Given the description of an element on the screen output the (x, y) to click on. 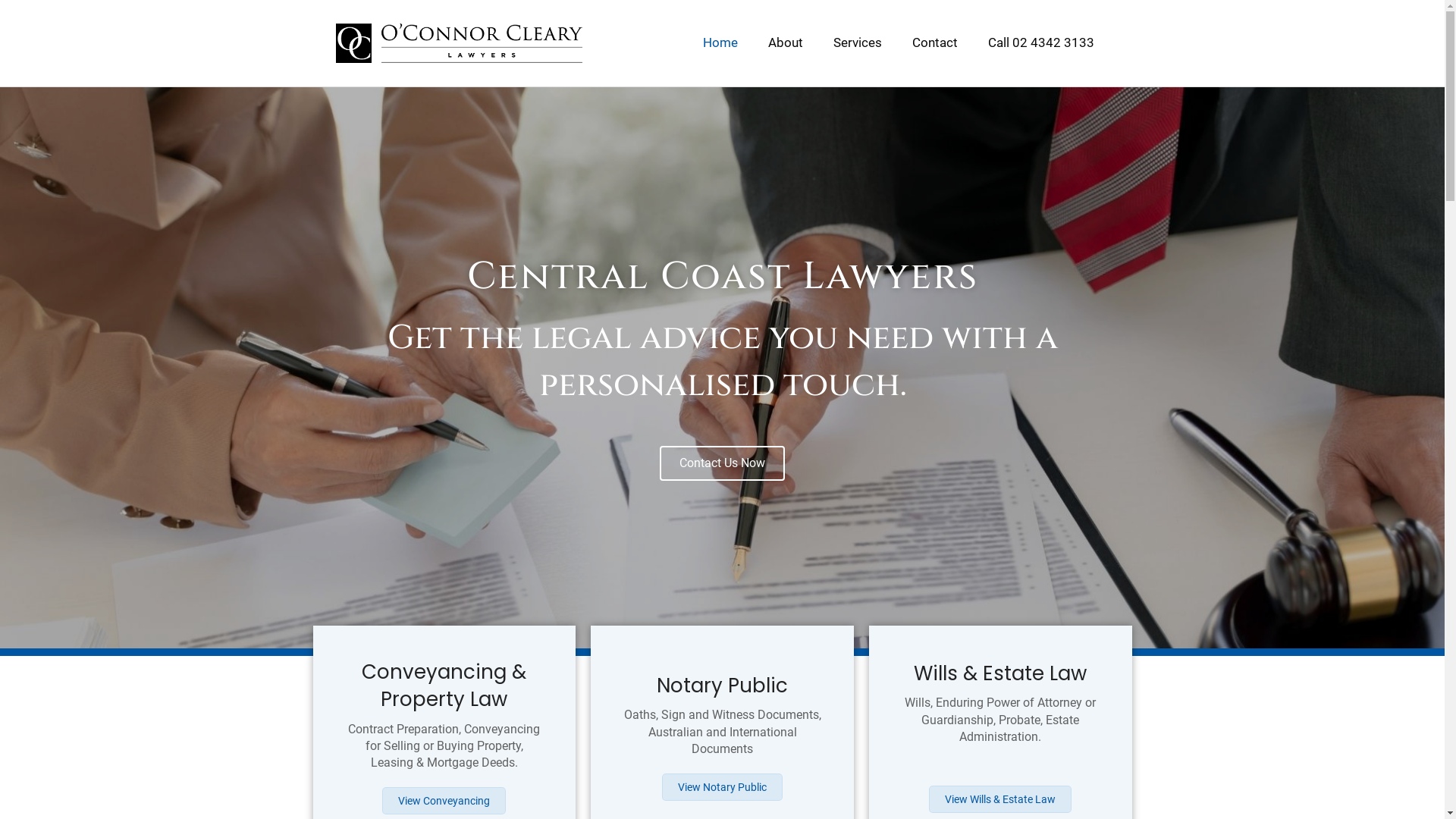
Contact Element type: text (934, 42)
Notary Public Element type: text (721, 685)
Call 02 4342 3133 Element type: text (1040, 42)
Contact Us Now Element type: text (721, 462)
Conveyancing & Property Law Element type: text (443, 685)
Services Element type: text (856, 42)
About Element type: text (784, 42)
Home Element type: text (719, 42)
View Notary Public Element type: text (722, 786)
View Conveyancing Element type: text (443, 800)
View Wills & Estate Law Element type: text (999, 798)
Wills & Estate Law Element type: text (999, 673)
